Given the description of an element on the screen output the (x, y) to click on. 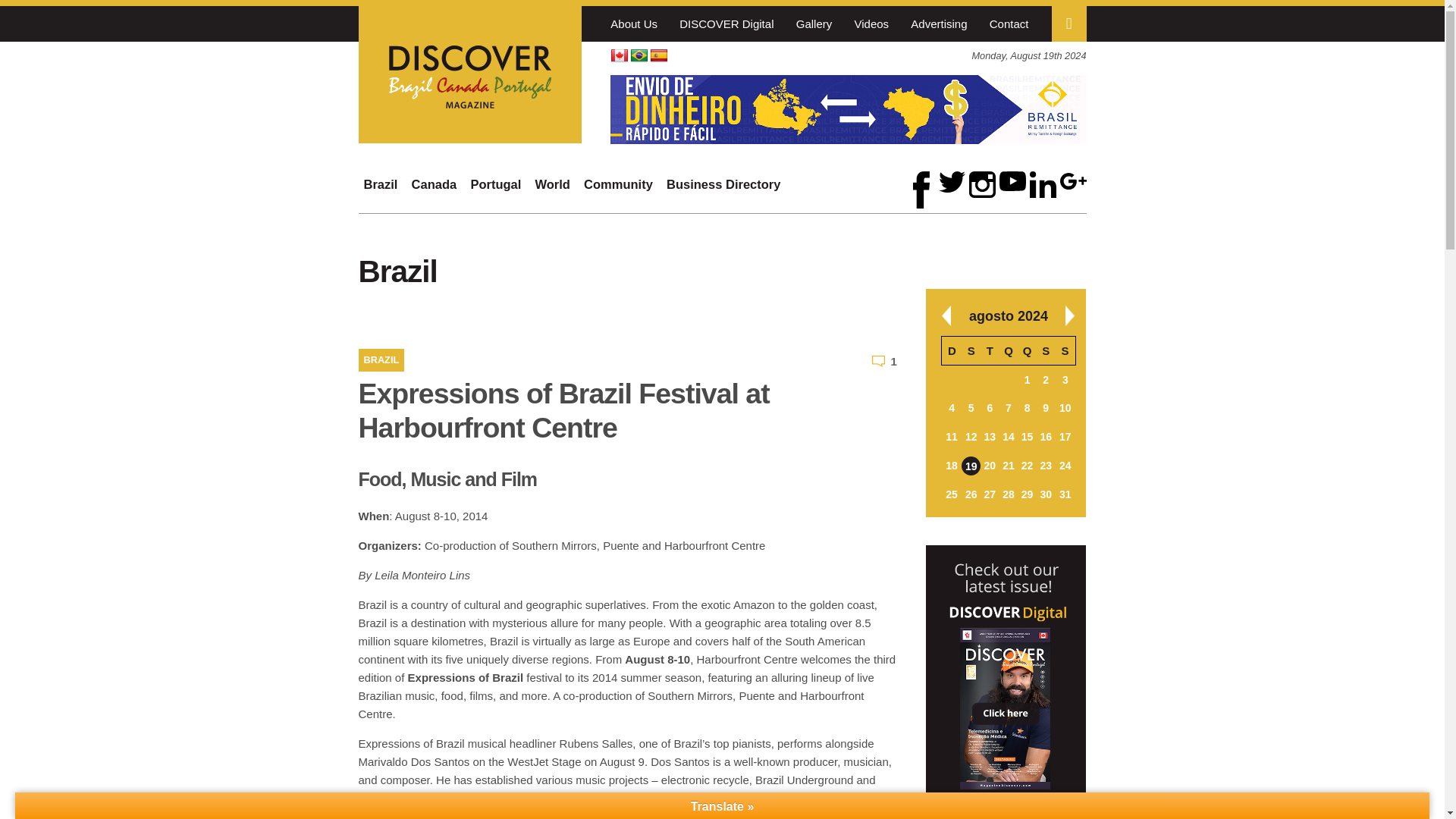
DISCOVER Digital (726, 23)
Canada (434, 184)
World (552, 184)
Portugal (494, 184)
Brazil (380, 184)
Contact (1009, 23)
Videos (870, 23)
Community (618, 184)
Spanish (658, 55)
Portuguese (638, 55)
